Given the description of an element on the screen output the (x, y) to click on. 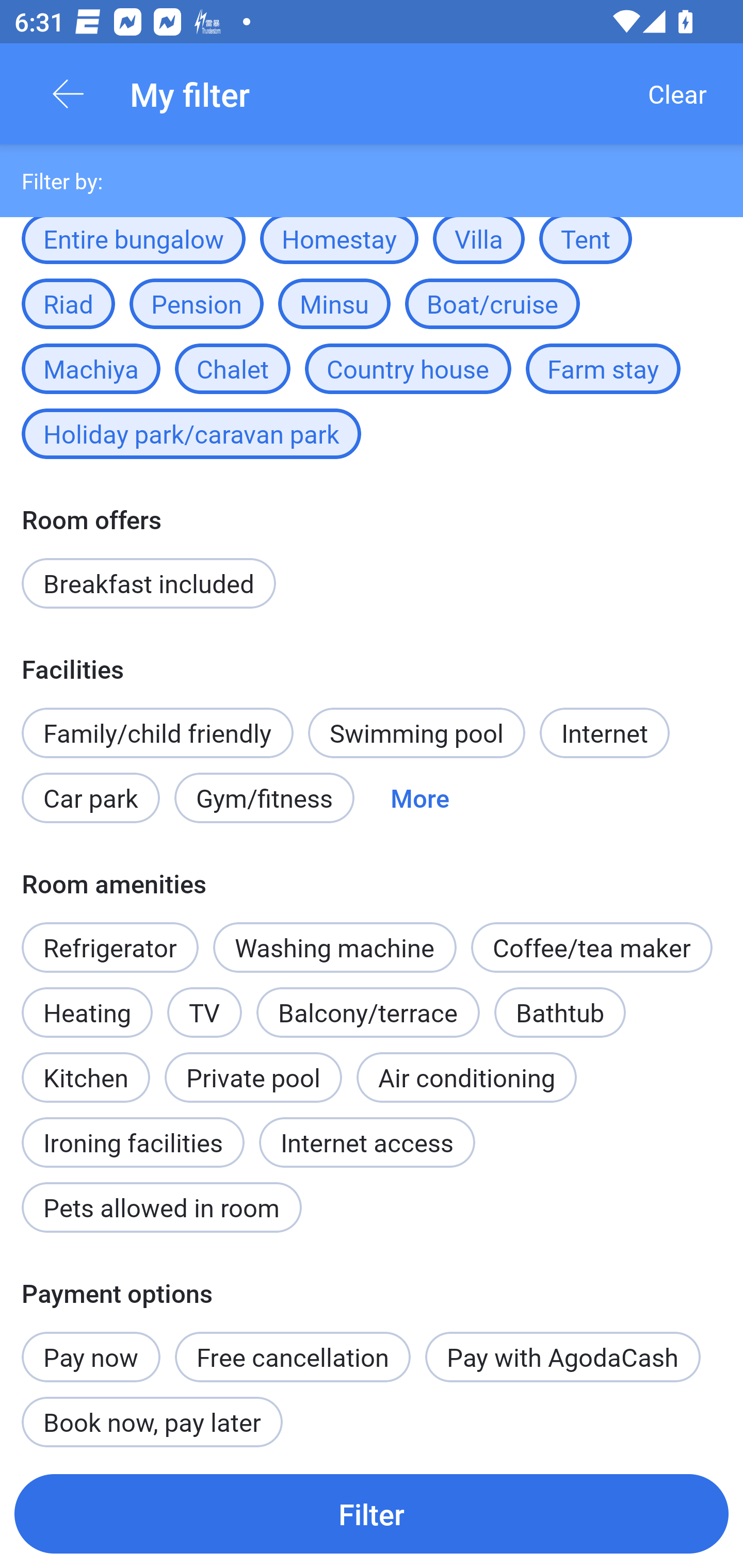
Clear (676, 93)
Breakfast included (148, 583)
Family/child friendly (157, 732)
Swimming pool (416, 732)
Internet (604, 732)
Car park (90, 798)
Gym/fitness (264, 798)
More (420, 798)
Refrigerator (109, 947)
Washing machine (334, 947)
Coffee/tea maker (591, 947)
Heating (87, 1012)
TV (204, 1012)
Balcony/terrace (367, 1012)
Bathtub (559, 1012)
Kitchen (85, 1066)
Private pool (252, 1077)
Air conditioning (466, 1077)
Ironing facilities (132, 1131)
Internet access (367, 1142)
Pets allowed in room (161, 1207)
Pay now (90, 1345)
Free cancellation (292, 1356)
Pay with AgodaCash (562, 1356)
Book now, pay later (152, 1418)
Filter (371, 1513)
